Given the description of an element on the screen output the (x, y) to click on. 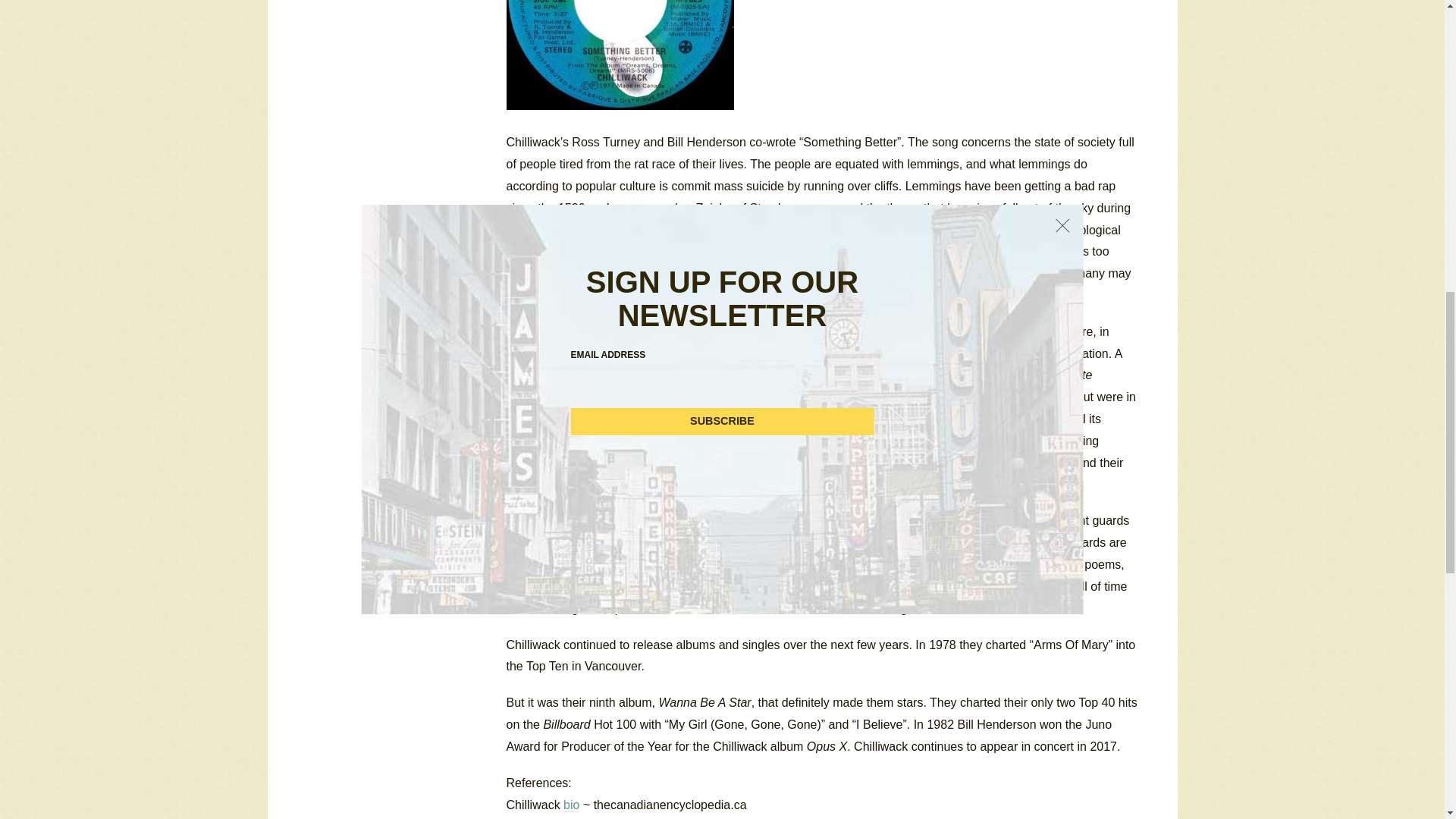
Something Better by Chilliwack (619, 54)
White Wilderness (737, 332)
bio (571, 805)
Cruel Camera (860, 375)
